Given the description of an element on the screen output the (x, y) to click on. 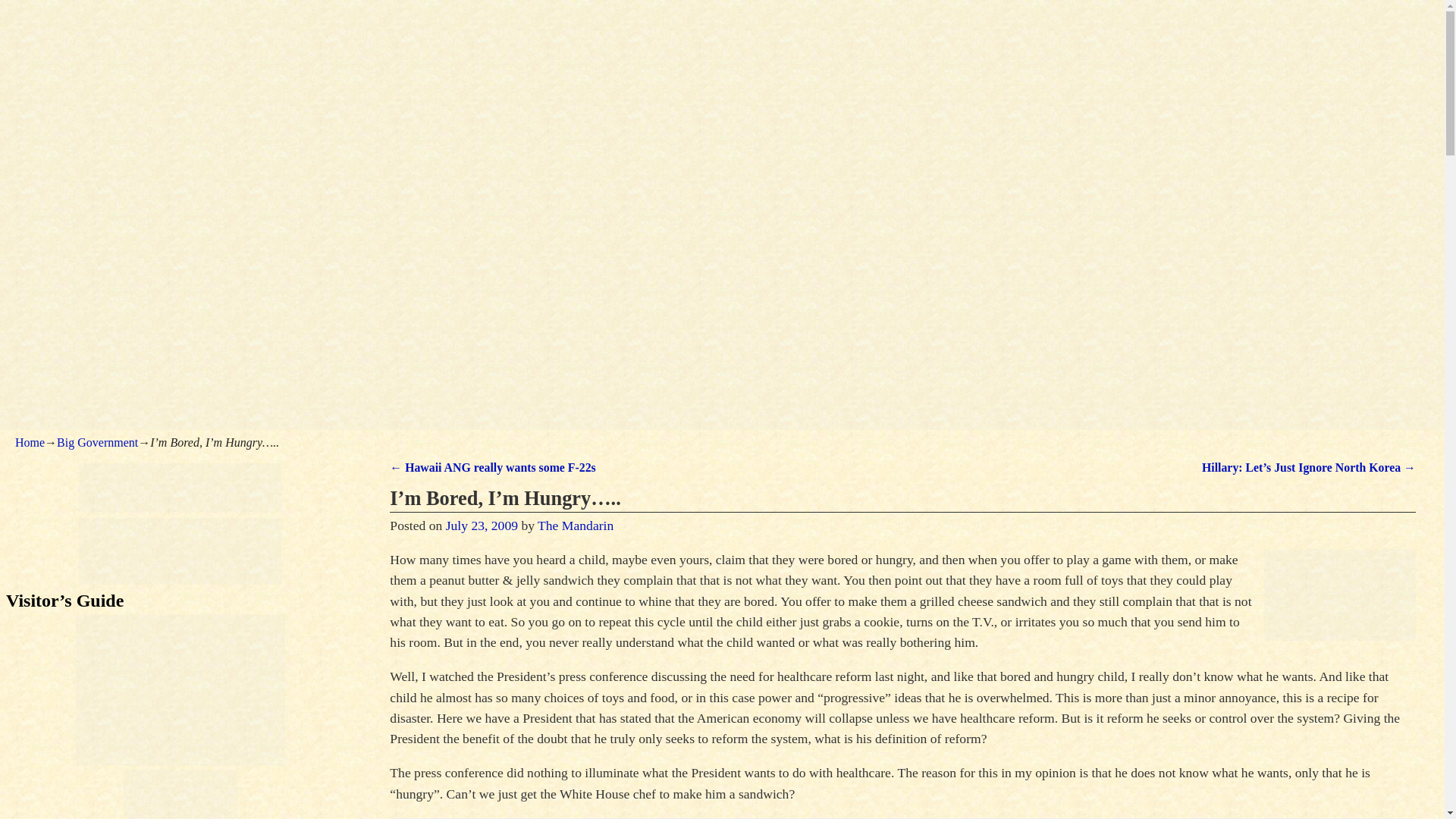
3:29 pm (481, 525)
The Mandarin (574, 525)
Home (29, 441)
Big Government (97, 441)
There is nothing no TV (1339, 594)
July 23, 2009 (481, 525)
View all posts by The Mandarin (574, 525)
